Given the description of an element on the screen output the (x, y) to click on. 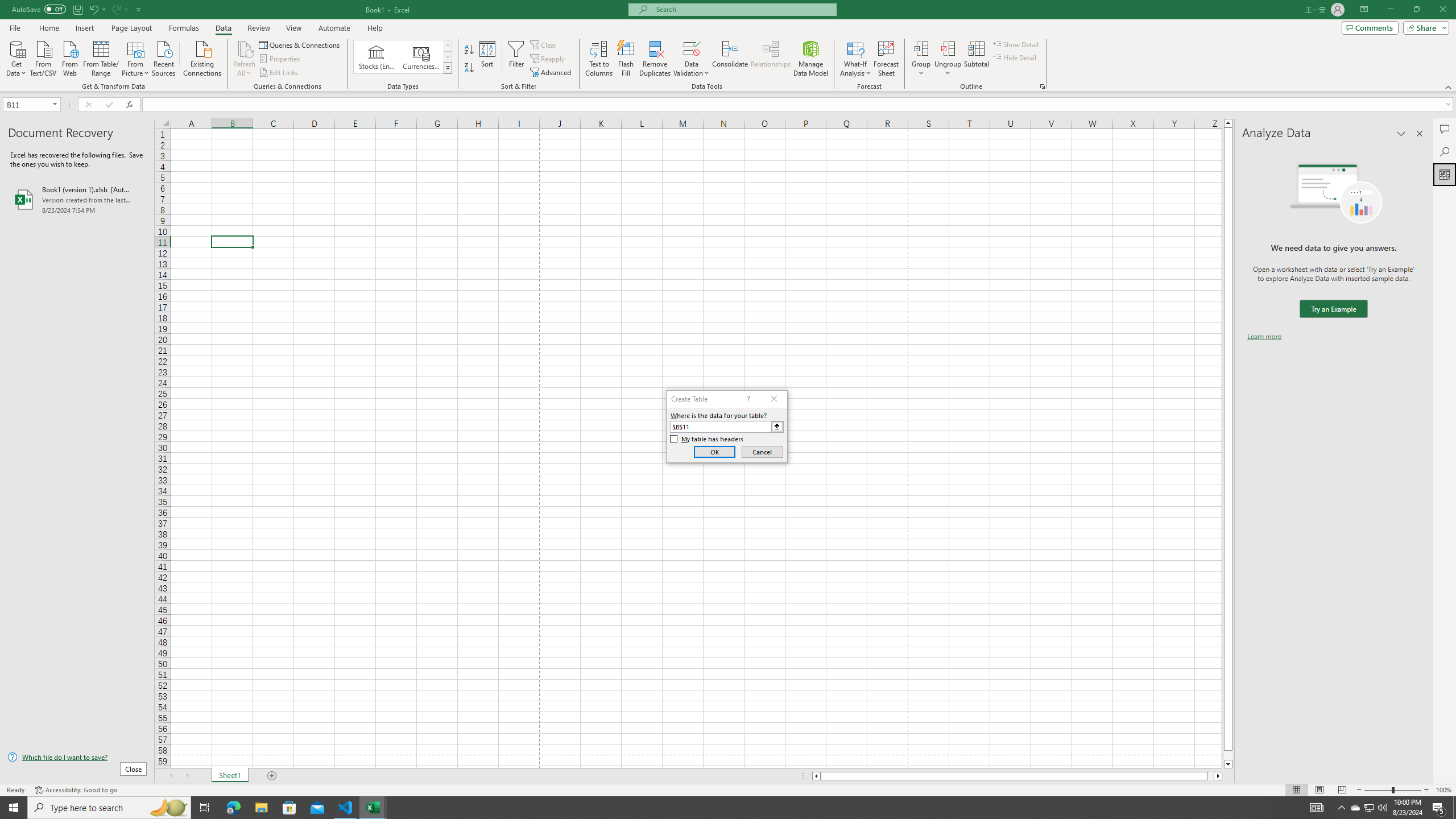
Zoom In (1426, 790)
Accessibility Checker Accessibility: Good to go (76, 790)
Remove Duplicates (654, 58)
